Given the description of an element on the screen output the (x, y) to click on. 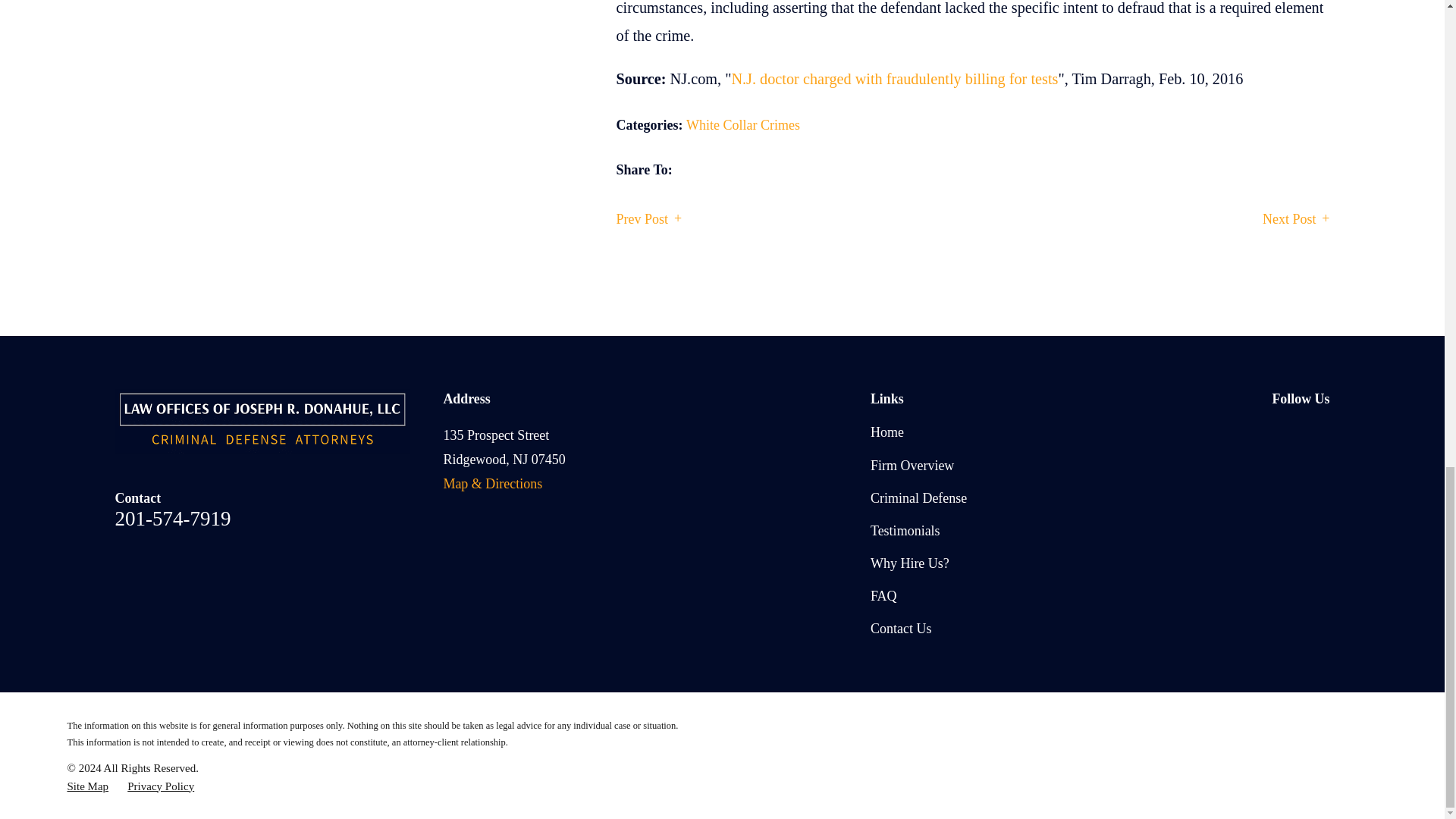
Law Offices of Joseph R. Donahue, LLC (262, 421)
Home (267, 421)
Google Business Profile (1280, 432)
